Given the description of an element on the screen output the (x, y) to click on. 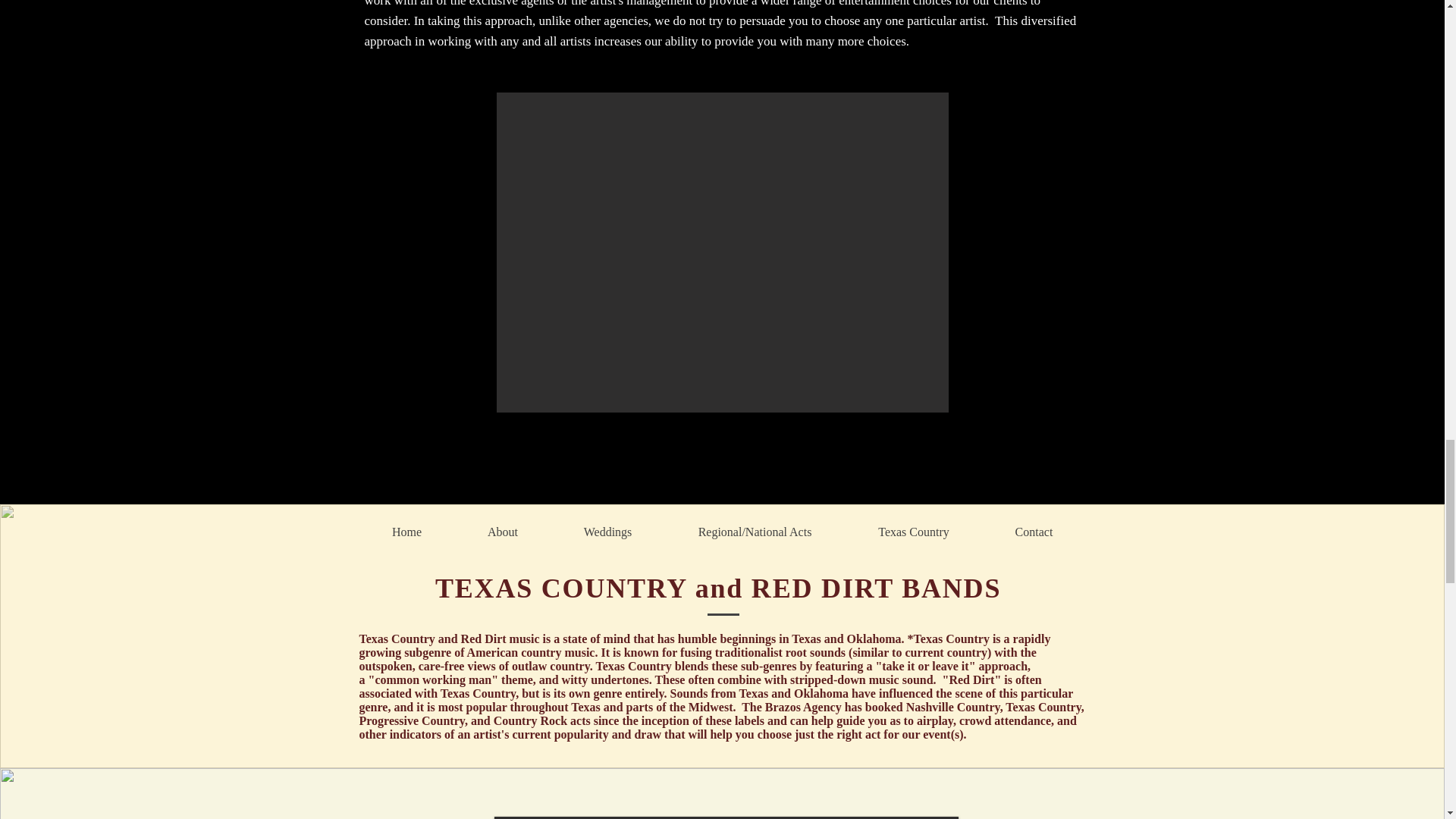
Texas Country (912, 531)
About (502, 531)
"Red Dirt" (971, 679)
country music (557, 652)
outlaw country (550, 666)
 country (965, 652)
Home (406, 531)
Contact (1034, 531)
Weddings (606, 531)
"common working man" (433, 679)
